Given the description of an element on the screen output the (x, y) to click on. 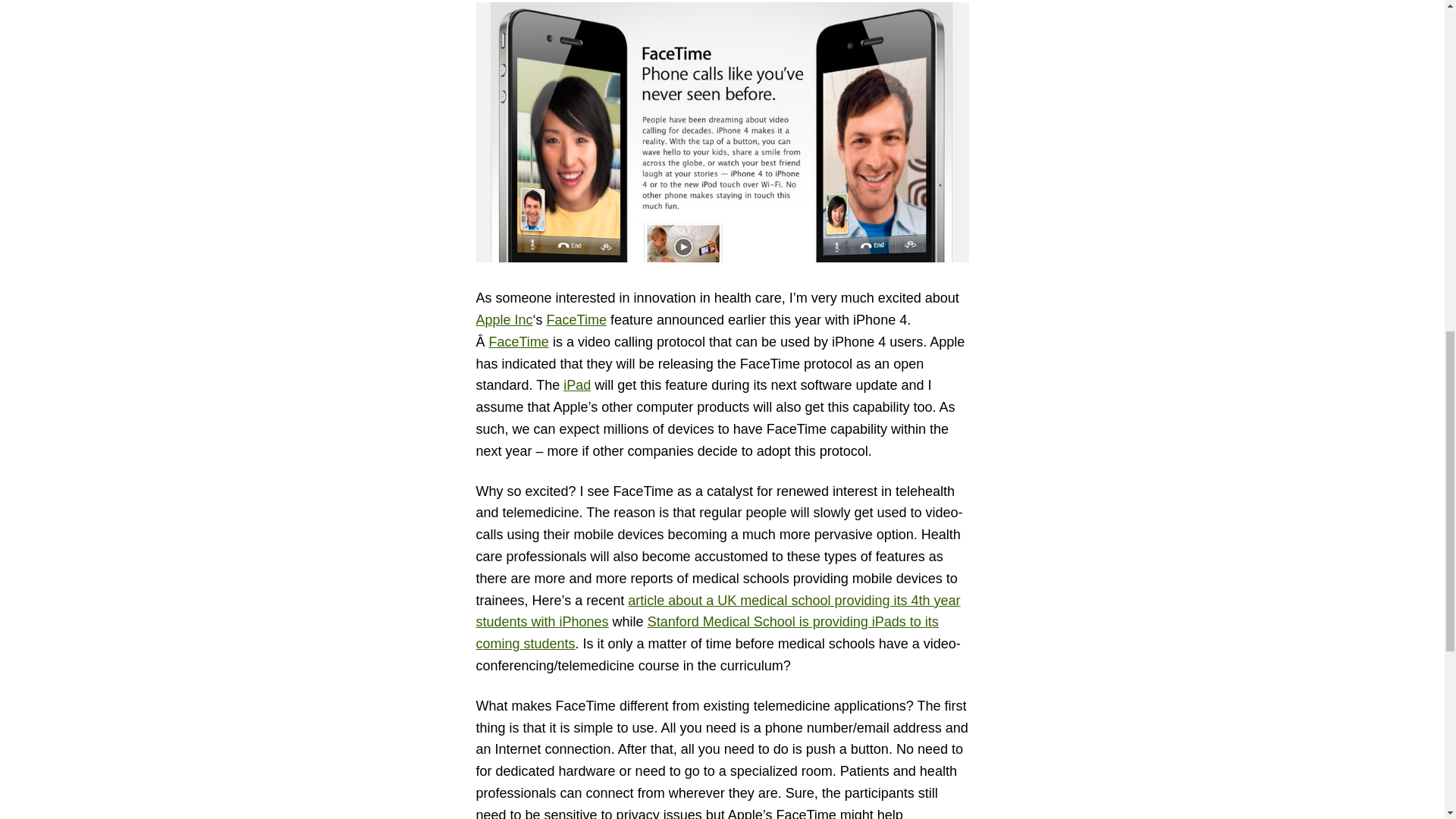
facetime (722, 132)
FaceTime (518, 341)
Apple Inc (504, 319)
FaceTime (577, 319)
iPad (577, 385)
